Given the description of an element on the screen output the (x, y) to click on. 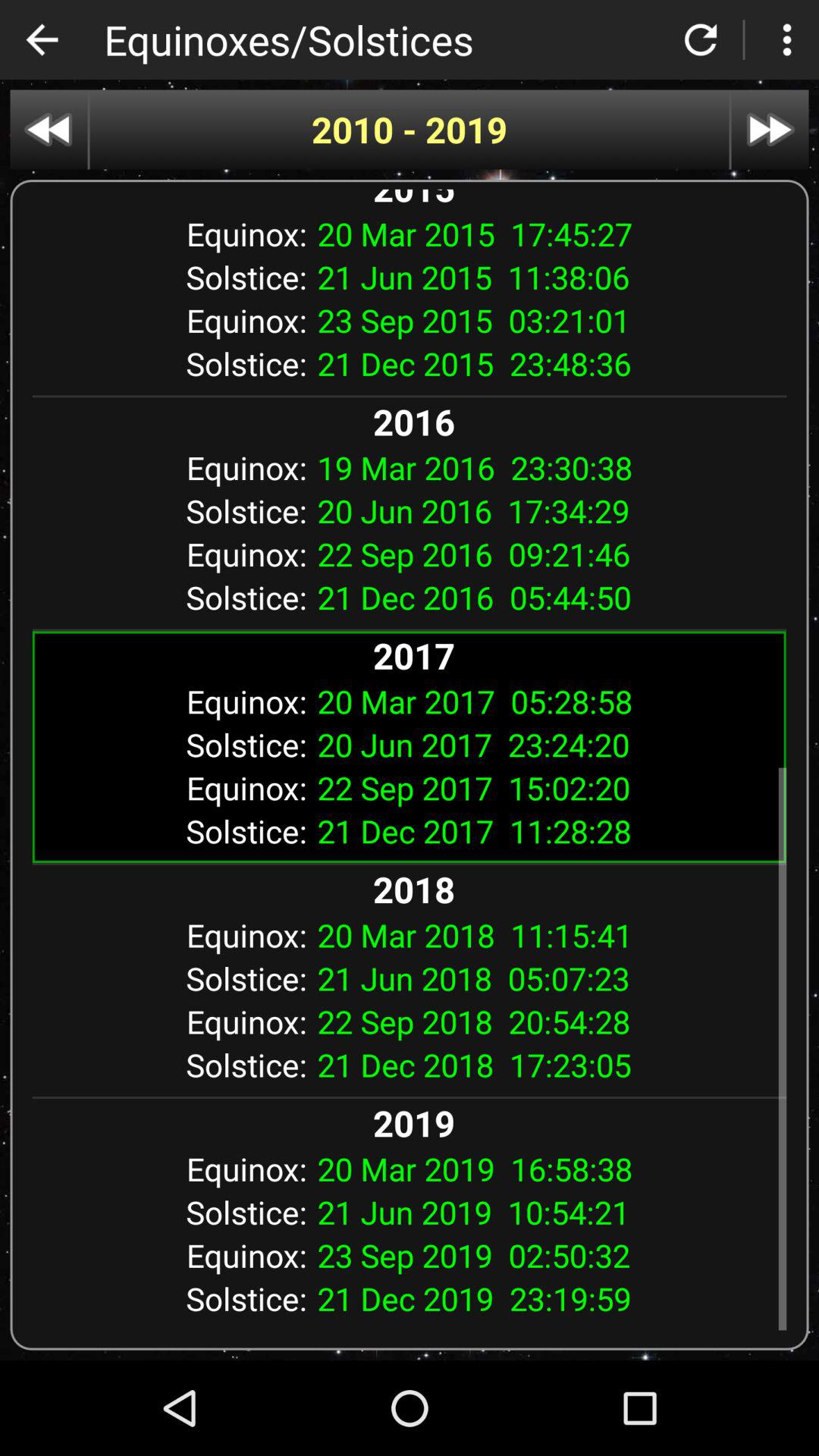
turn off item below 2016 item (546, 467)
